Given the description of an element on the screen output the (x, y) to click on. 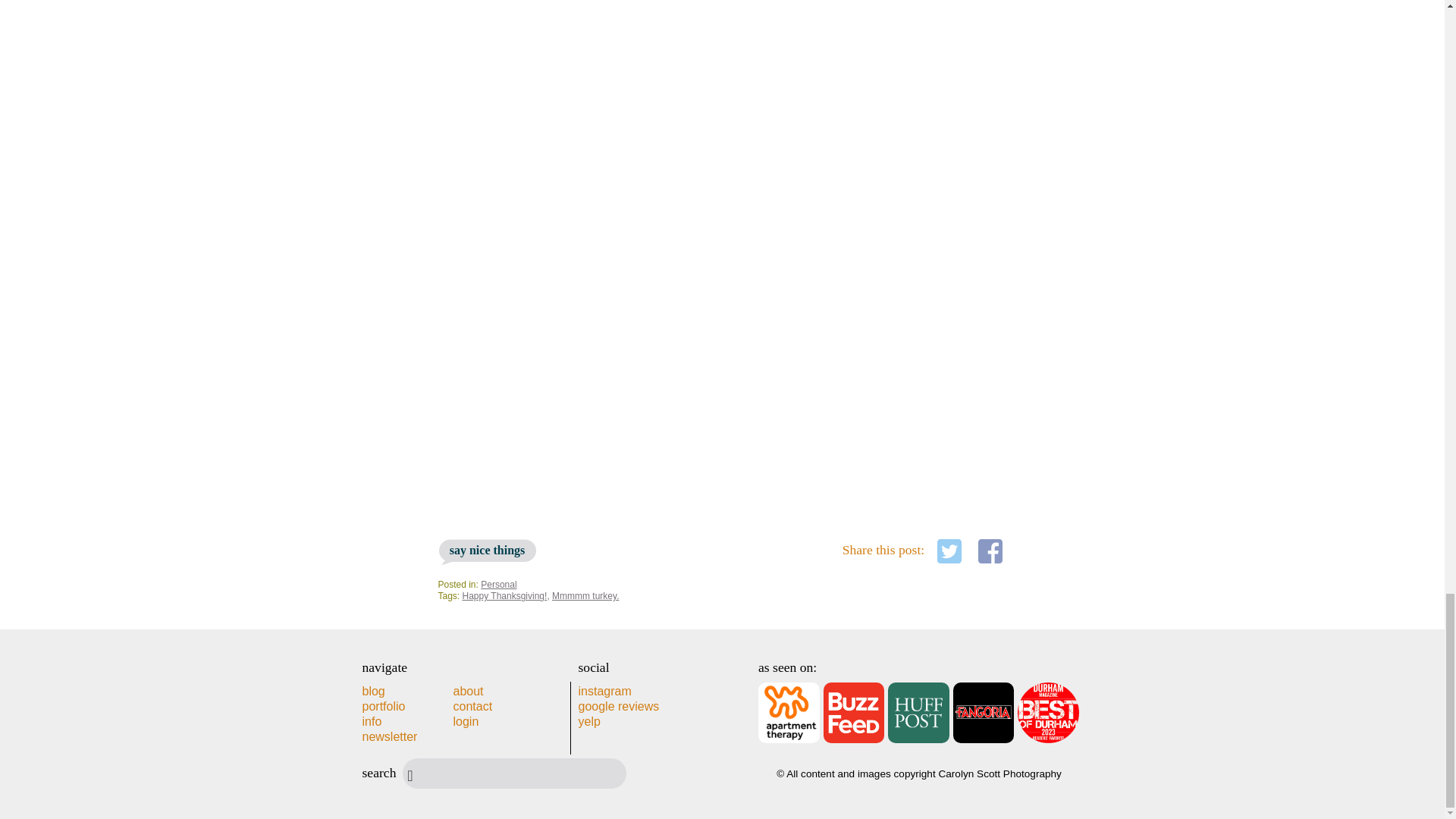
portfolio (384, 706)
blog (373, 690)
google reviews (618, 706)
instagram (604, 690)
info (371, 721)
contact (472, 706)
about (467, 690)
Happy Thanksgiving! (505, 595)
Personal (498, 584)
yelp (588, 721)
say nice things (487, 551)
Comment on I Break for Turkey. (487, 551)
newsletter (389, 736)
Mmmmm turkey. (584, 595)
login (465, 721)
